Given the description of an element on the screen output the (x, y) to click on. 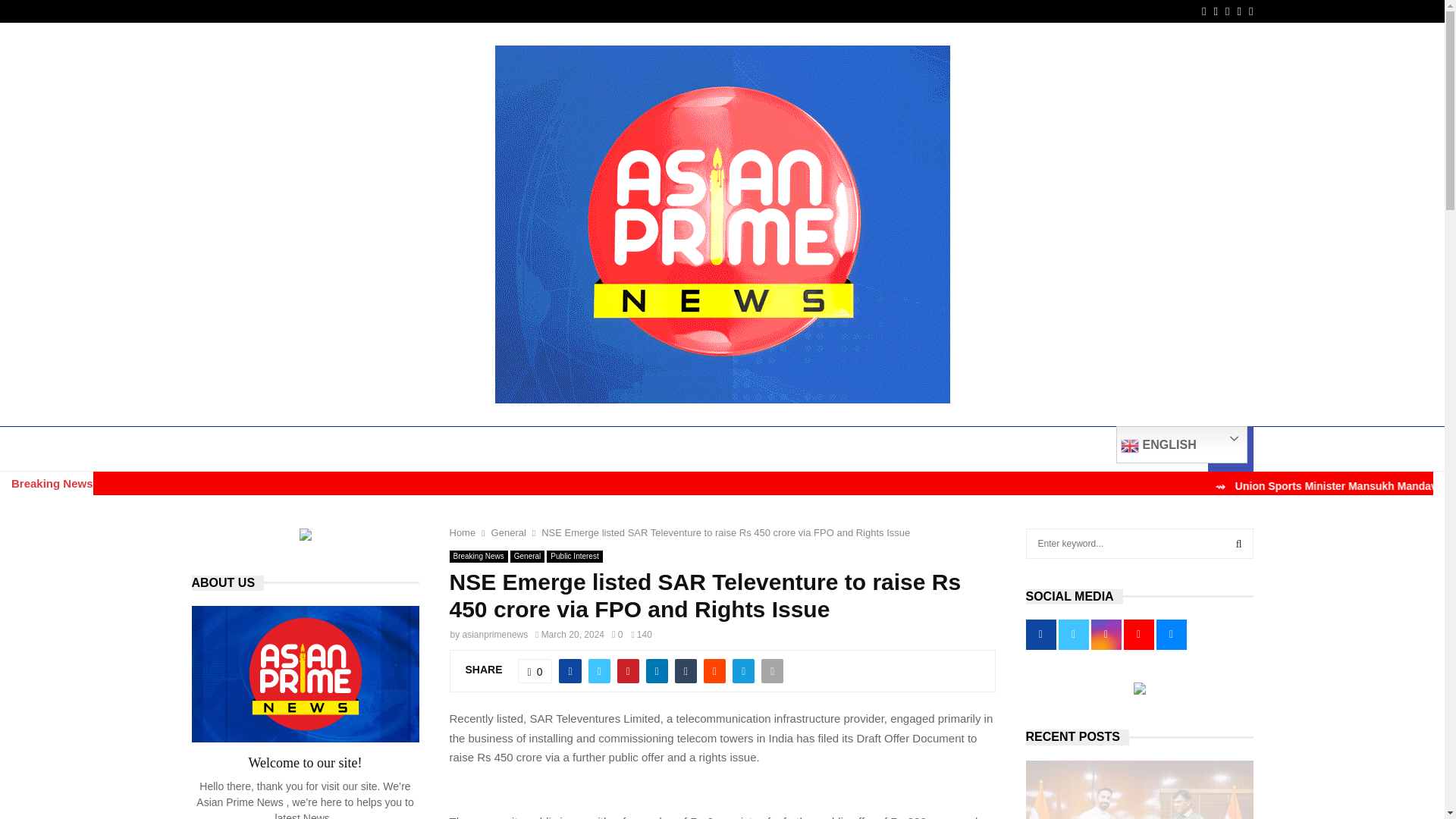
Like (535, 670)
LIFESTYLE (807, 448)
MORE (1082, 448)
HOME (218, 448)
FINANCE (445, 448)
BUSINESS (287, 448)
REAL ESTATE (1002, 448)
EDUCATION (368, 448)
ENGLISH (1181, 444)
SPORTS (733, 448)
ENTERTAINMENT (536, 448)
NEW PRODUCTS (901, 448)
